Given the description of an element on the screen output the (x, y) to click on. 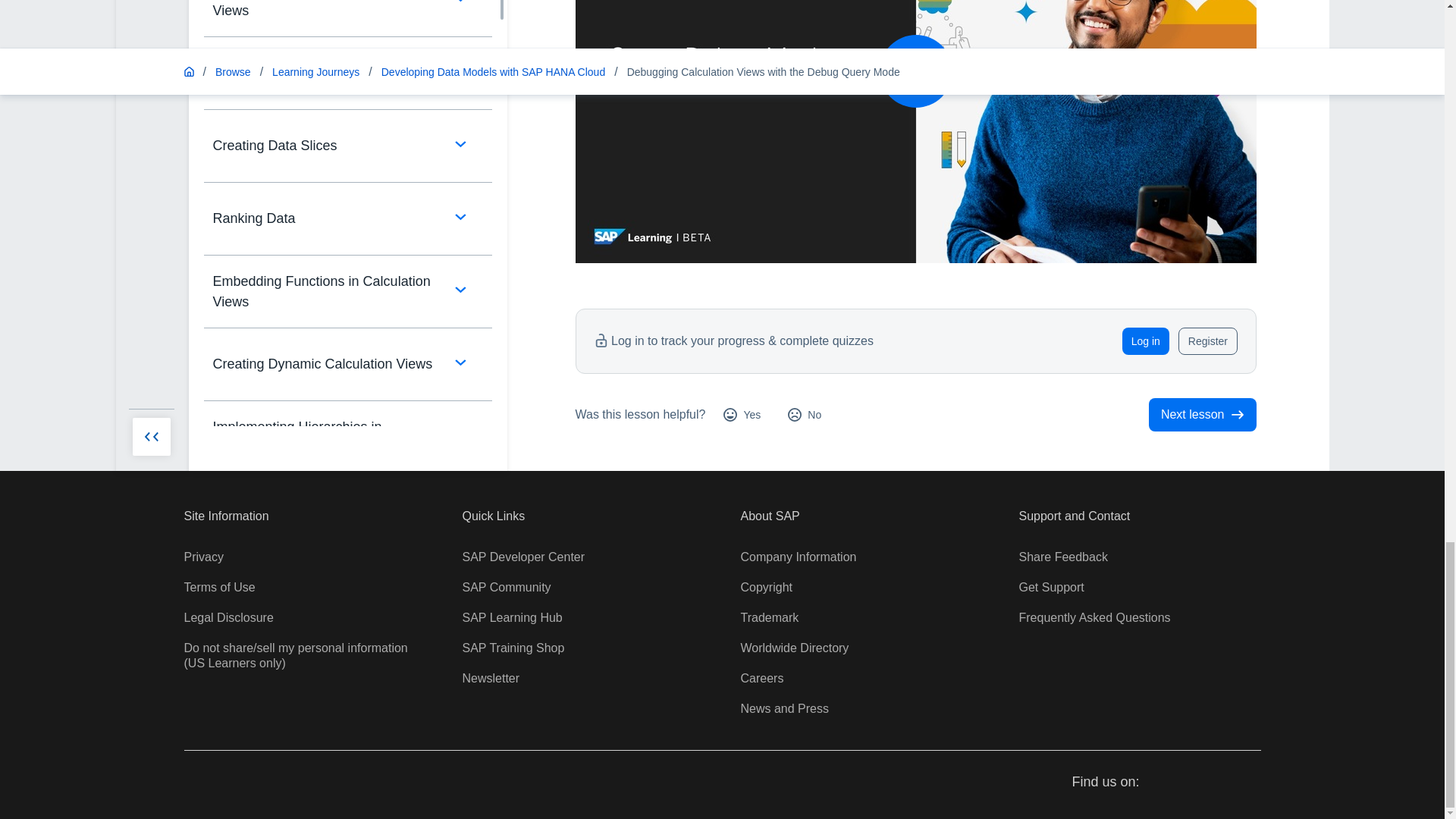
SAP Facebook (1165, 782)
SAP Learning Hub (512, 617)
No (803, 414)
SAP Youtube (1220, 782)
Legal Disclosure (228, 617)
Terms of Use (218, 586)
Company Information (797, 556)
SAP Training Shop (513, 647)
Newsletter (491, 677)
SAP Community (507, 586)
Visit home page (207, 784)
SAP Developer Center (524, 556)
Log in (1145, 340)
SAP Twitter (1193, 782)
Privacy (202, 556)
